Given the description of an element on the screen output the (x, y) to click on. 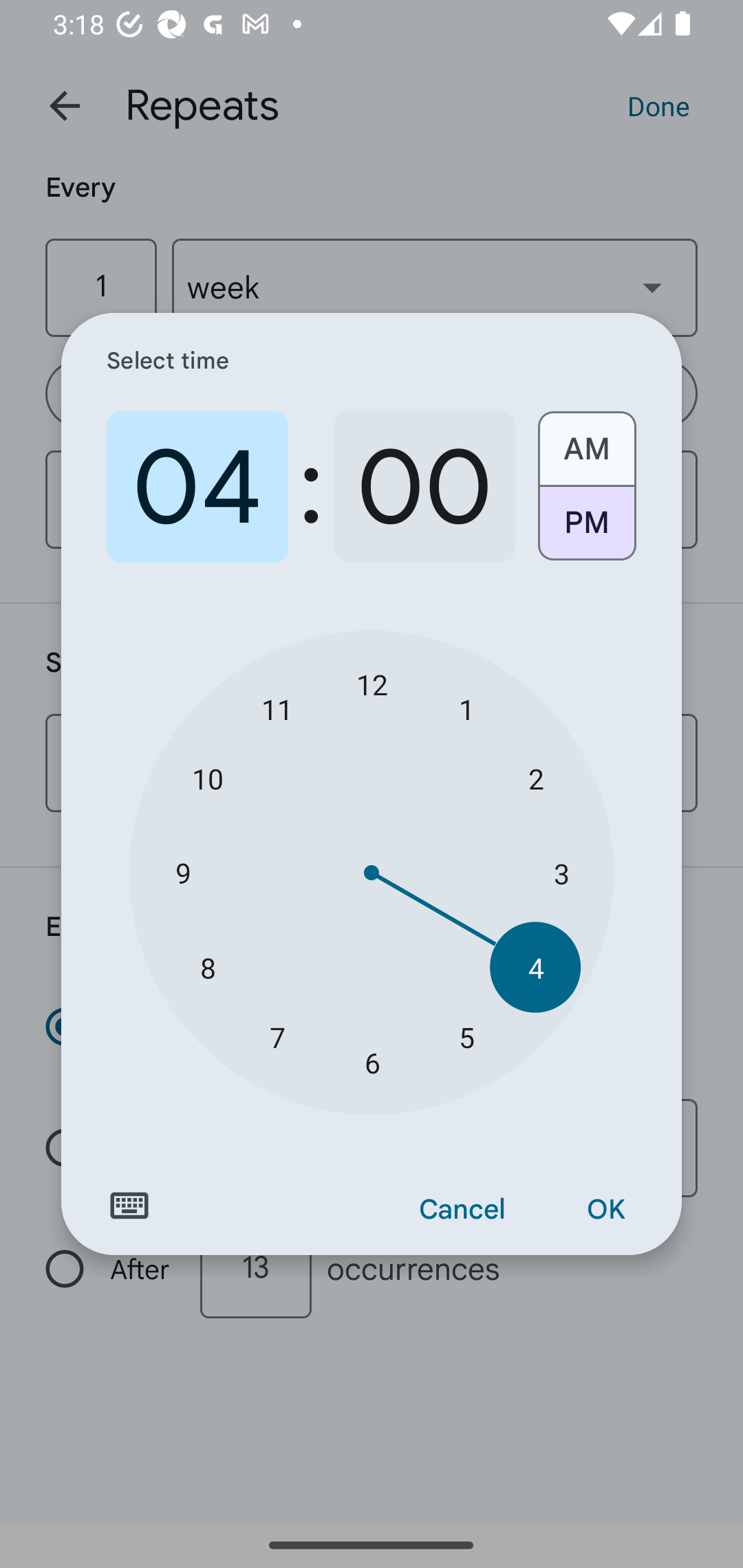
AM (586, 441)
04 4 o'clock (197, 486)
00 0 minutes (424, 486)
PM (586, 529)
12 12 o'clock (371, 683)
11 11 o'clock (276, 708)
1 1 o'clock (466, 708)
10 10 o'clock (207, 778)
2 2 o'clock (535, 778)
9 9 o'clock (182, 872)
3 3 o'clock (561, 872)
8 8 o'clock (207, 966)
4 4 o'clock (535, 966)
7 7 o'clock (276, 1035)
5 5 o'clock (466, 1035)
6 6 o'clock (371, 1062)
Switch to text input mode for the time input. (128, 1205)
Cancel (462, 1209)
OK (605, 1209)
